Given the description of an element on the screen output the (x, y) to click on. 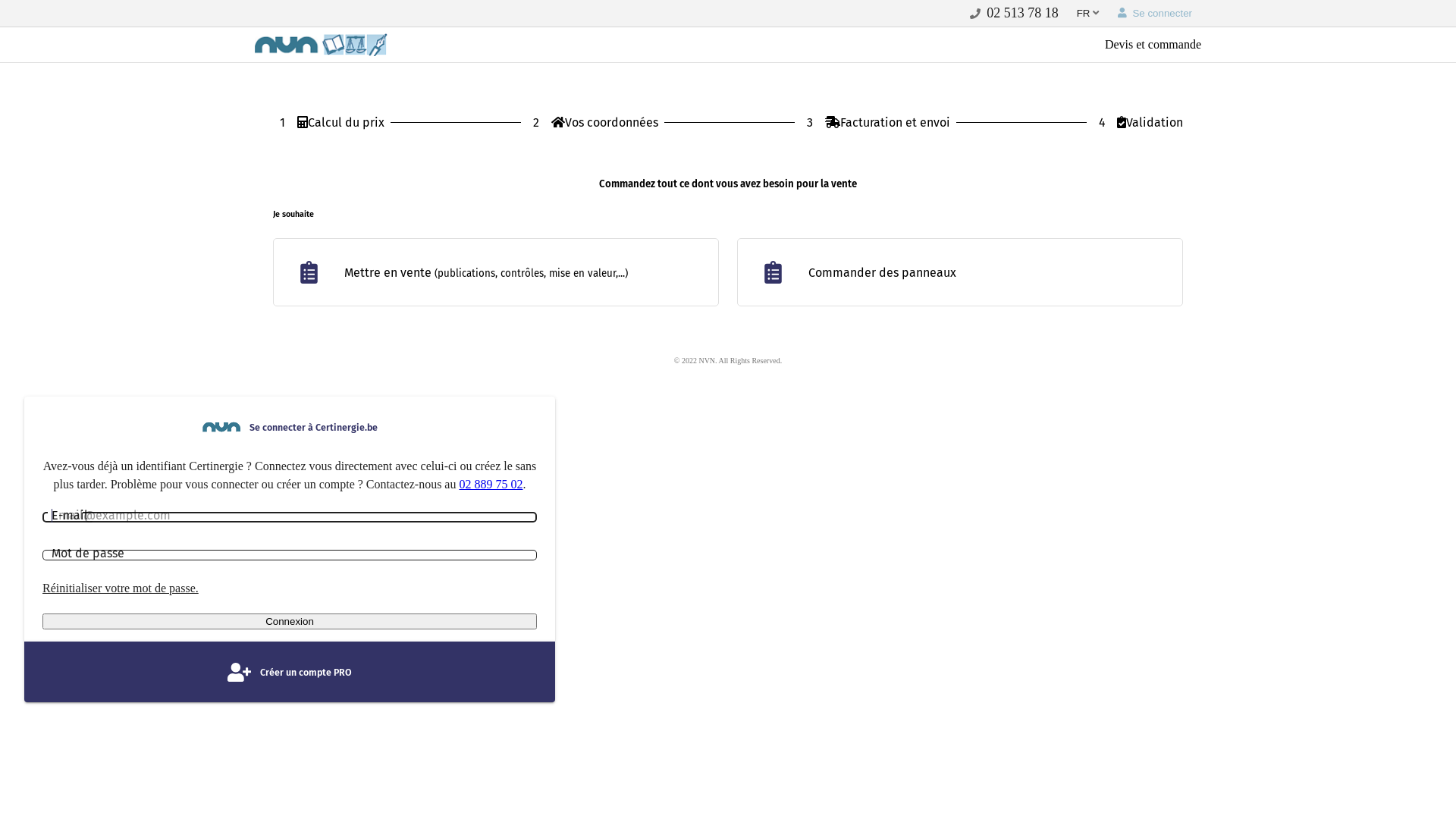
Devis et commande Element type: text (1152, 44)
Se connecter Element type: text (1154, 13)
02 513 78 18 Element type: text (1013, 13)
FR Element type: text (1087, 13)
02 889 75 02 Element type: text (490, 483)
Connexion Element type: text (289, 621)
